Given the description of an element on the screen output the (x, y) to click on. 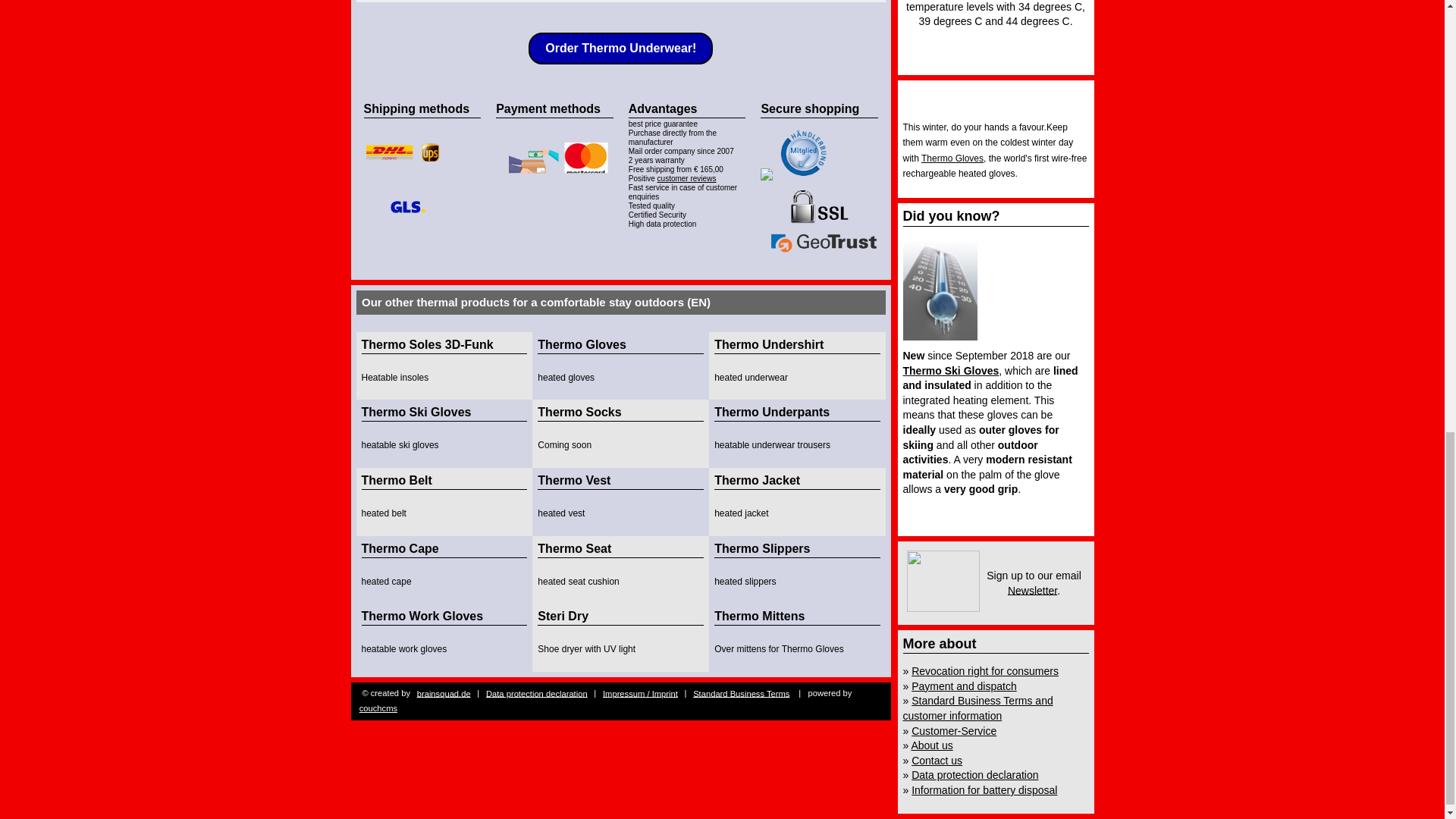
Standard Business Terms and customer information (977, 707)
Thermo Ski Gloves (950, 370)
customer reviews (687, 178)
Newsletter (1032, 589)
Order Thermo Underwear! (620, 48)
Payment and dispatch (963, 686)
Thermo Gloves (952, 158)
Revocation right for consumers (984, 671)
